Given the description of an element on the screen output the (x, y) to click on. 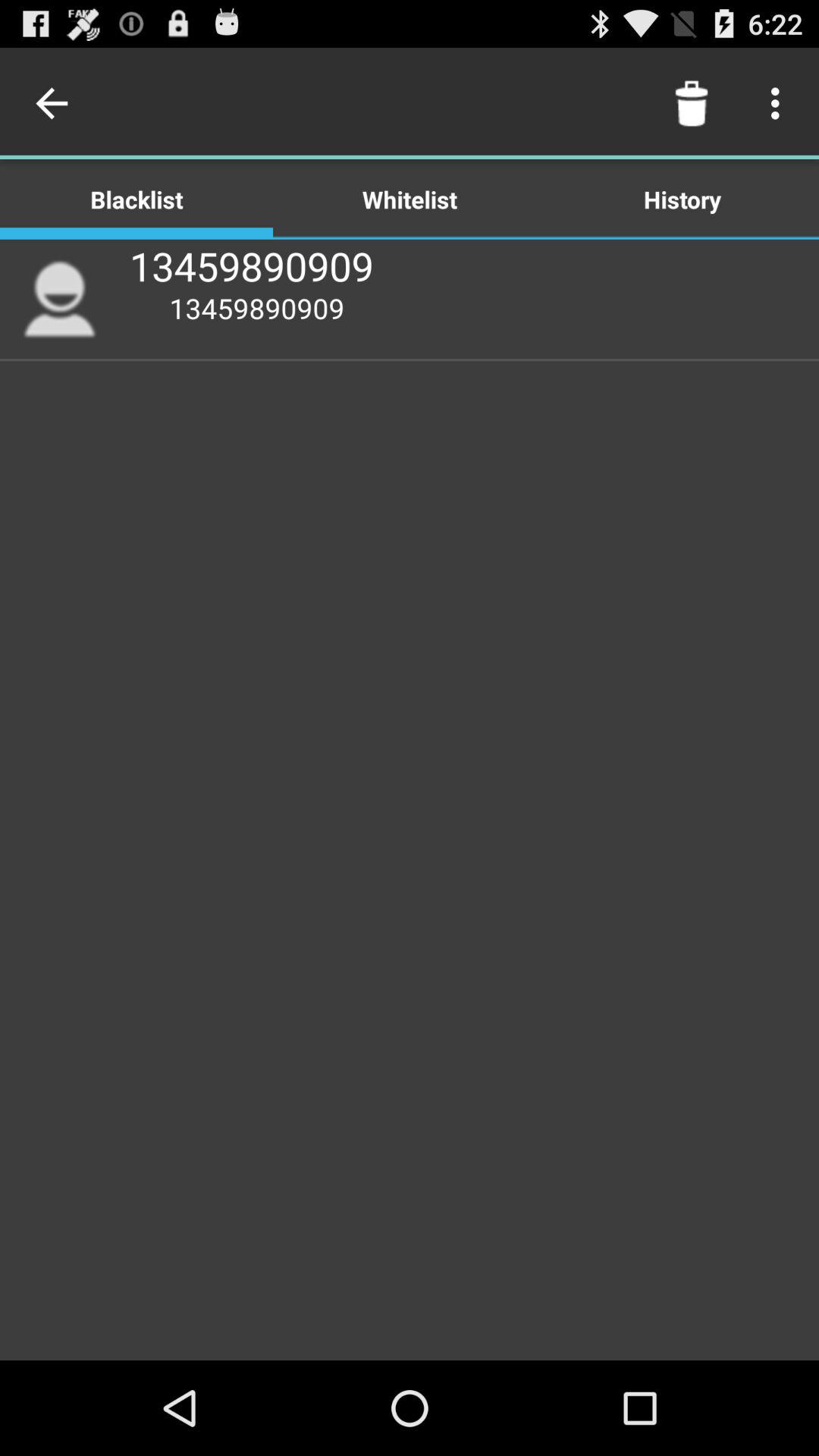
tap the icon above 13459890909 app (409, 199)
